Given the description of an element on the screen output the (x, y) to click on. 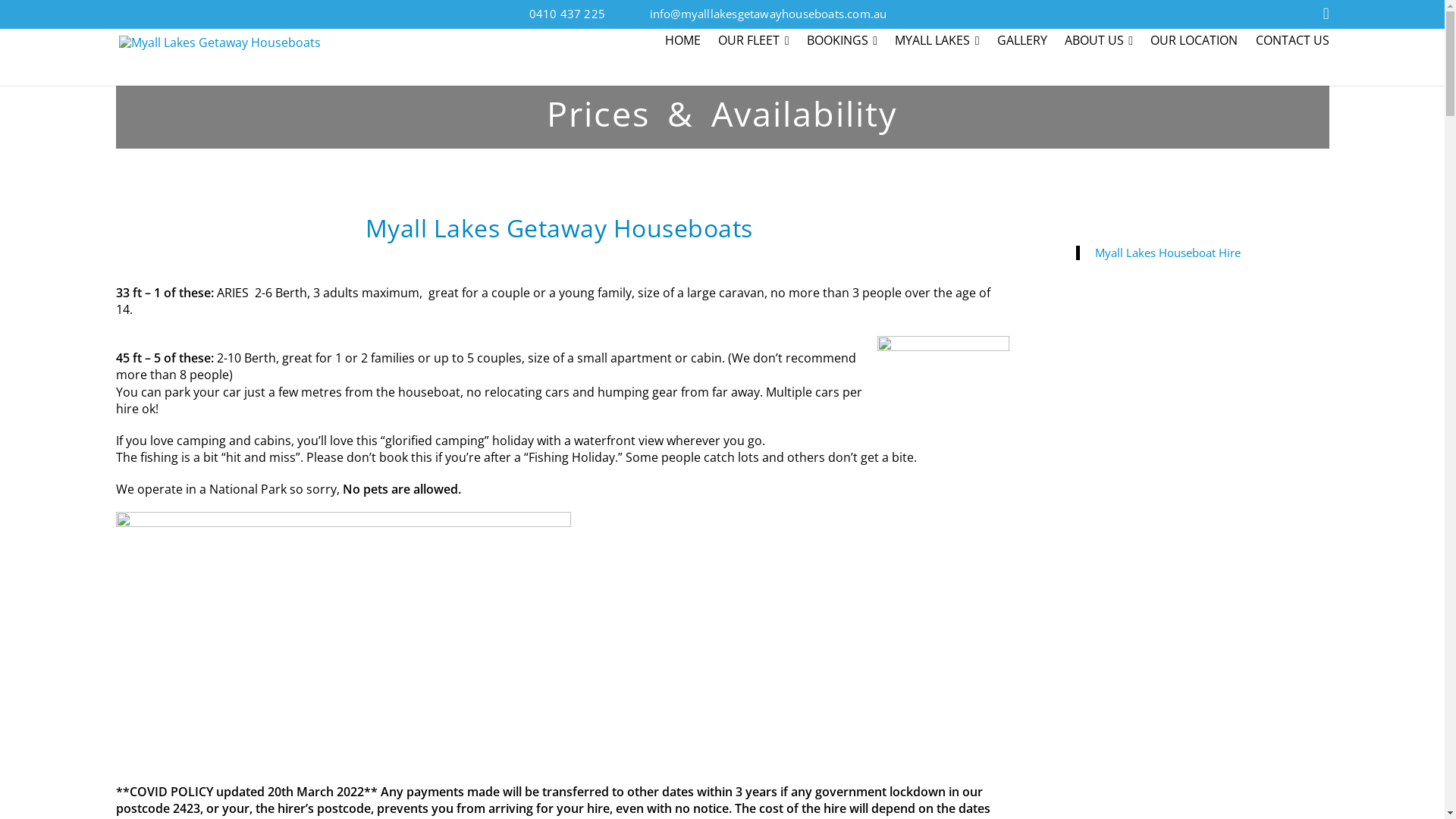
info@myalllakesgetawayhouseboats.com.au Element type: text (768, 13)
Myall Lakes Houseboat Hire Element type: text (1167, 252)
GALLERY Element type: text (1021, 42)
BOOKINGS Element type: text (841, 42)
0410 437 225 Element type: text (567, 13)
OUR FLEET Element type: text (753, 42)
OUR LOCATION Element type: text (1194, 42)
ABOUT US Element type: text (1098, 42)
CONTACT US Element type: text (1288, 42)
HOME Element type: text (686, 42)
MYALL LAKES Element type: text (937, 42)
